Given the description of an element on the screen output the (x, y) to click on. 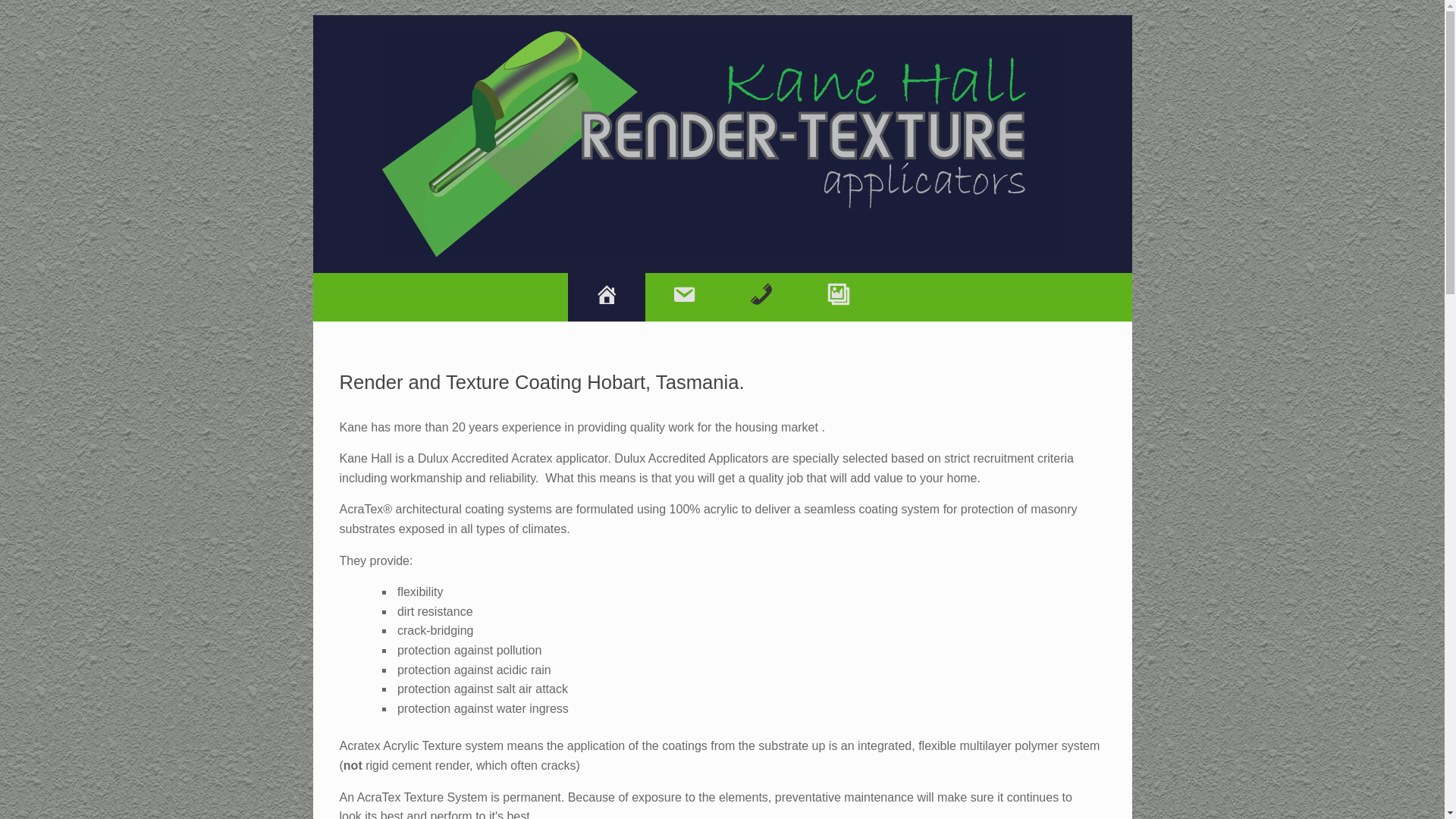
Kane Hall Render and Texture Hobart Element type: hover (722, 143)
Home Element type: text (605, 297)
Phone Element type: text (760, 297)
Skip to content Element type: text (312, 14)
Photo Gallery Element type: text (837, 297)
Contact Us Element type: text (682, 297)
